Given the description of an element on the screen output the (x, y) to click on. 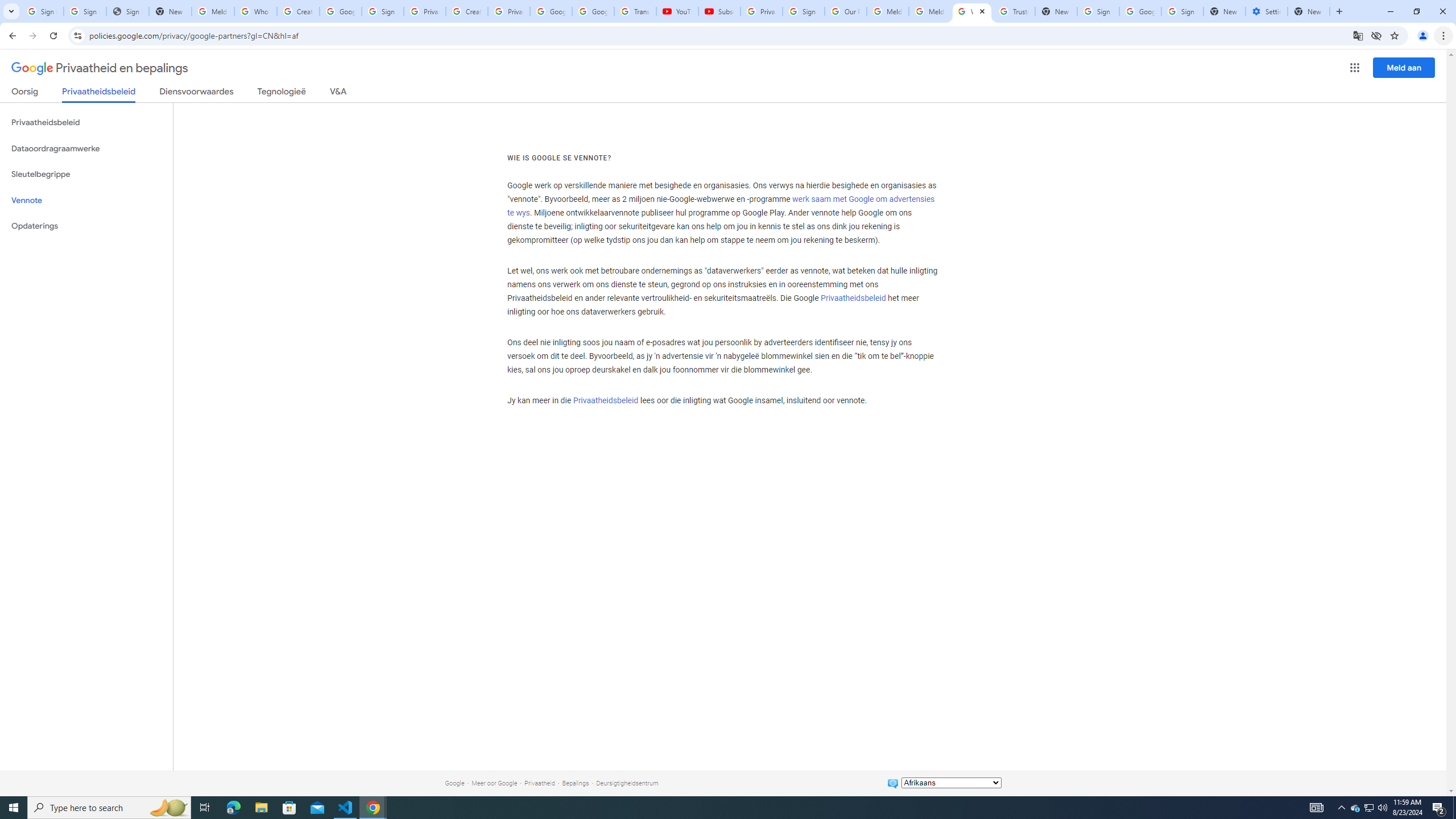
Google Cybersecurity Innovations - Google Safety Center (1139, 11)
Diensvoorwaardes (196, 93)
Privaatheidsbeleid (605, 400)
Trusted Information and Content - Google Safety Center (1013, 11)
Meld aan (1404, 67)
Dataoordragraamwerke (86, 148)
Google-programme (1355, 67)
Google Account (592, 11)
Sign in - Google Accounts (382, 11)
